Given the description of an element on the screen output the (x, y) to click on. 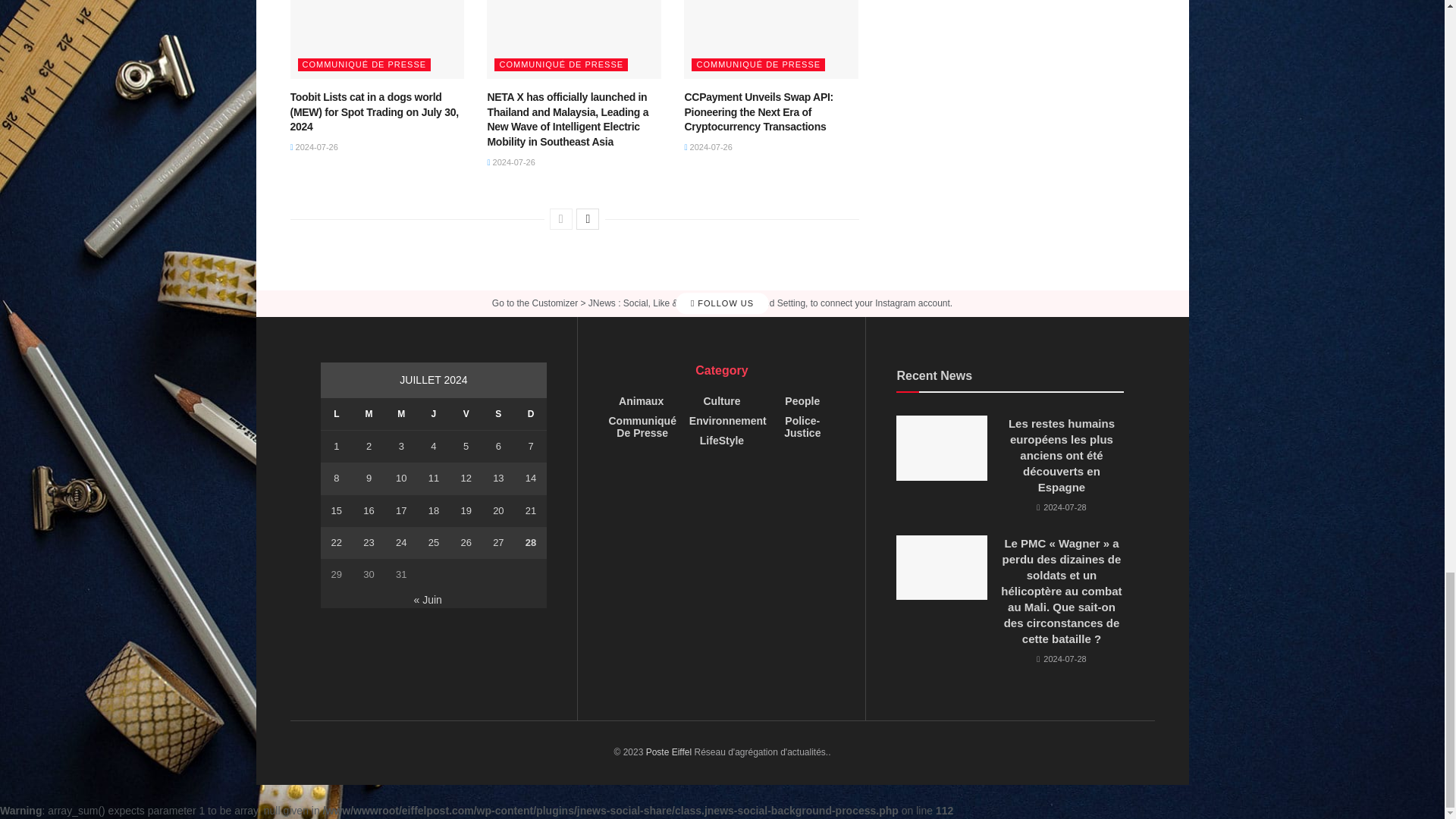
samedi (498, 414)
vendredi (465, 414)
mercredi (401, 414)
dimanche (531, 414)
Next (587, 219)
lundi (336, 414)
jeudi (433, 414)
Previous (561, 219)
mardi (368, 414)
Poste Eiffel (668, 751)
